Given the description of an element on the screen output the (x, y) to click on. 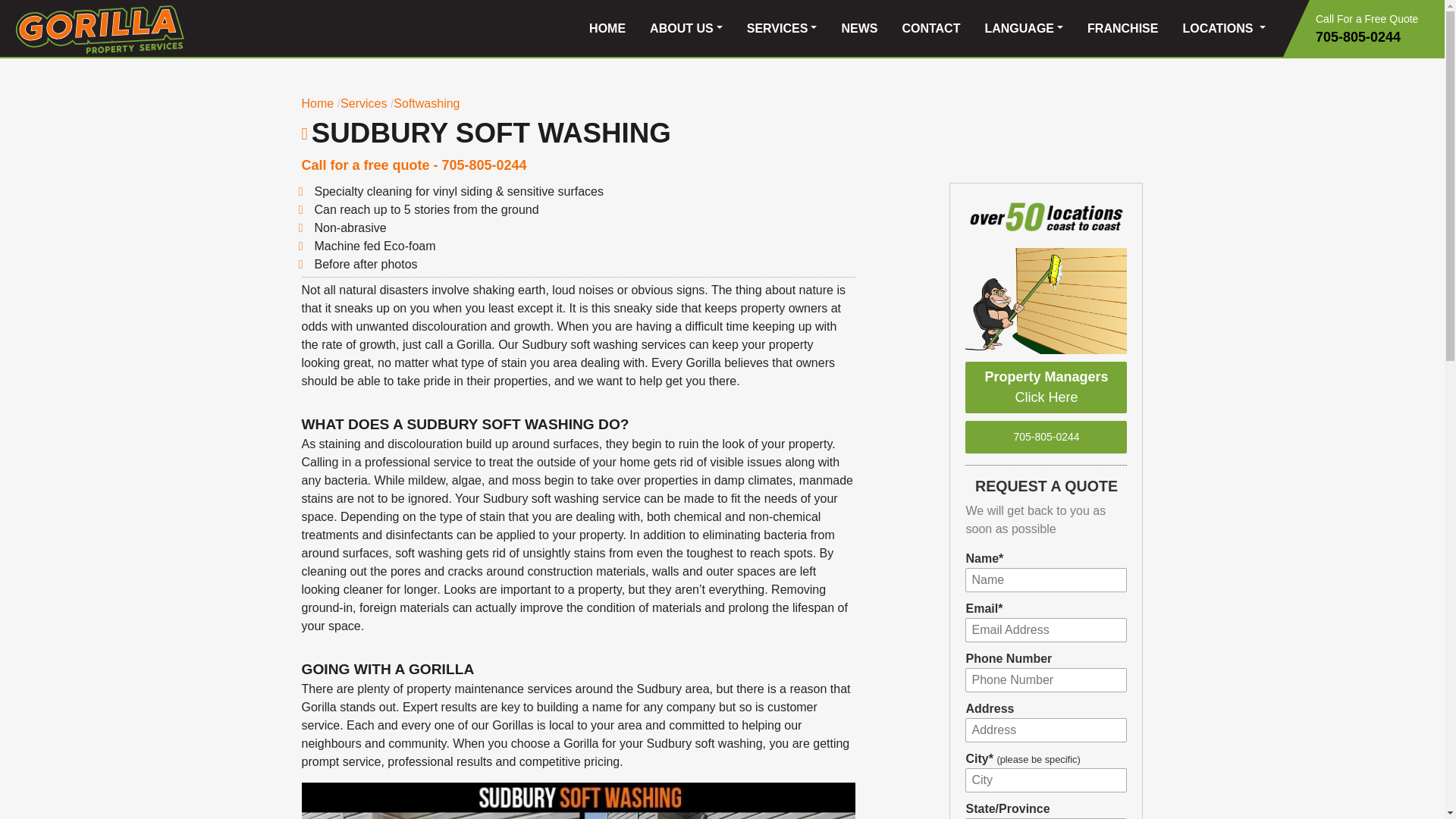
NEWS (858, 28)
HOME (606, 28)
Home (317, 103)
FRANCHISE (1122, 28)
ABOUT US (686, 28)
SERVICES (782, 28)
LOCATIONS (1224, 28)
Services (363, 103)
CONTACT (930, 28)
LANGUAGE (1023, 28)
